Given the description of an element on the screen output the (x, y) to click on. 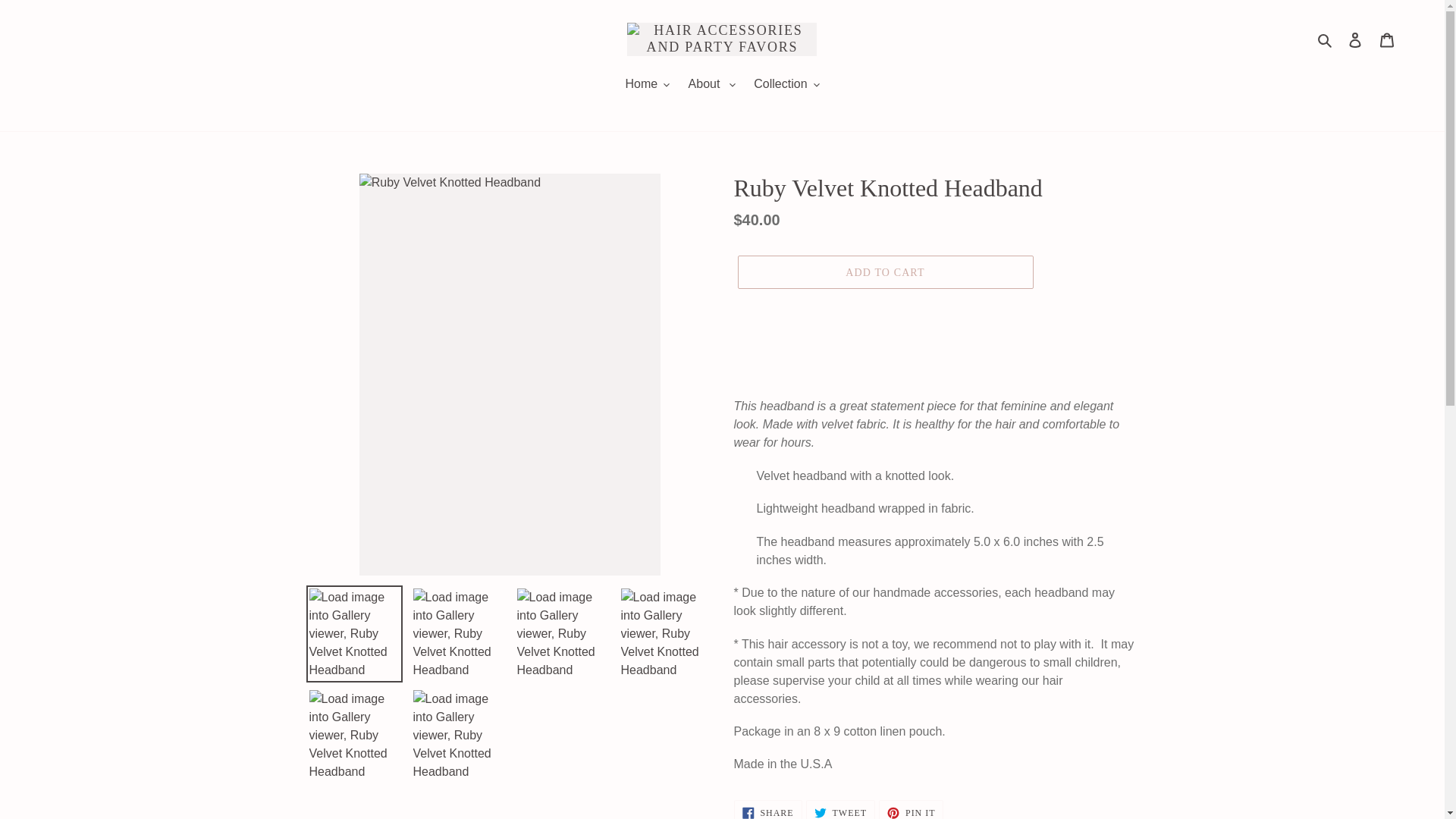
About (711, 85)
Collection (786, 85)
Cart (1387, 39)
Search (1326, 39)
Home (647, 85)
Log in (1355, 39)
